Given the description of an element on the screen output the (x, y) to click on. 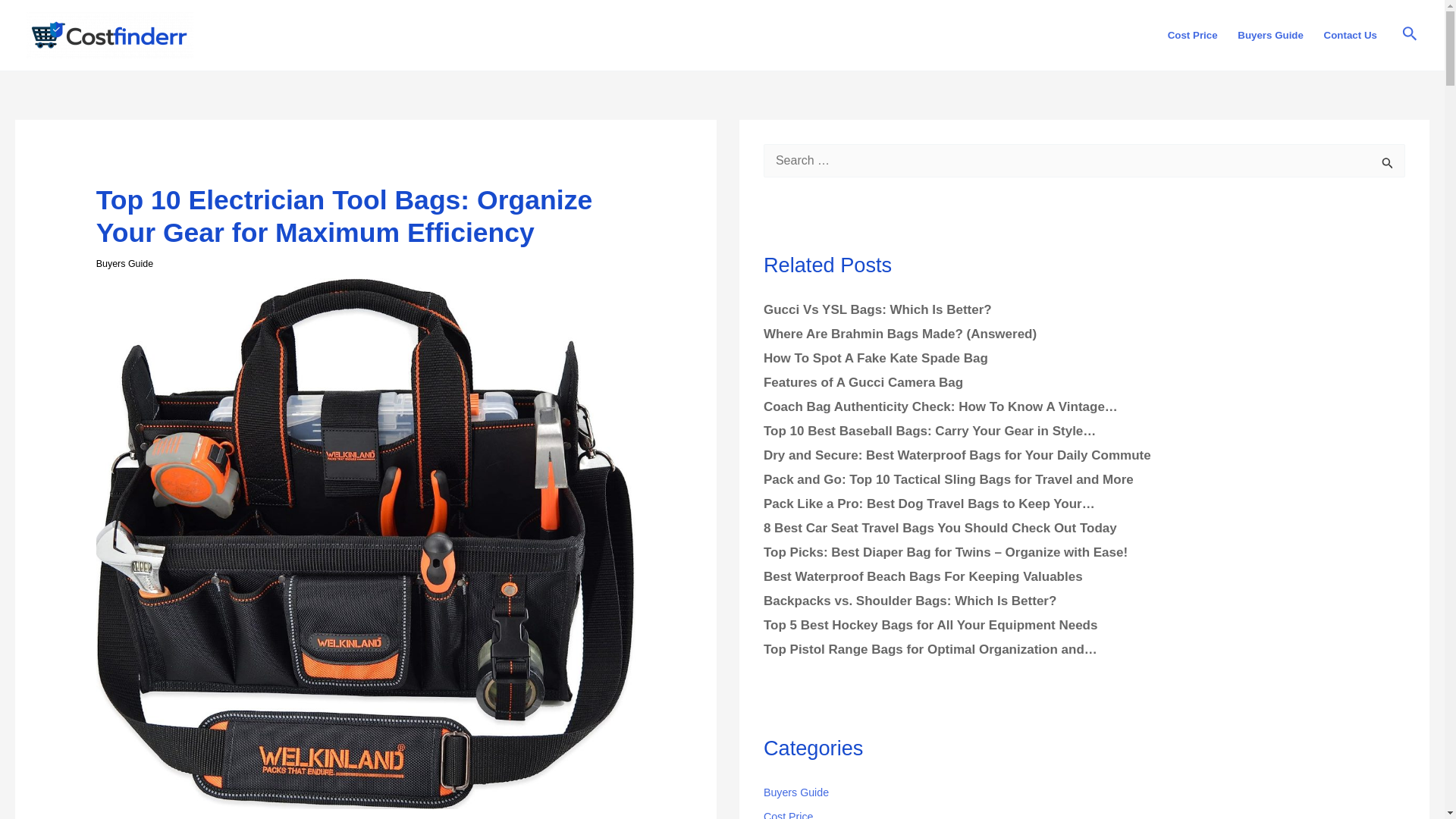
Cost Price (1192, 34)
Buyers Guide (1270, 34)
Contact Us (1350, 34)
Buyers Guide (124, 263)
